Given the description of an element on the screen output the (x, y) to click on. 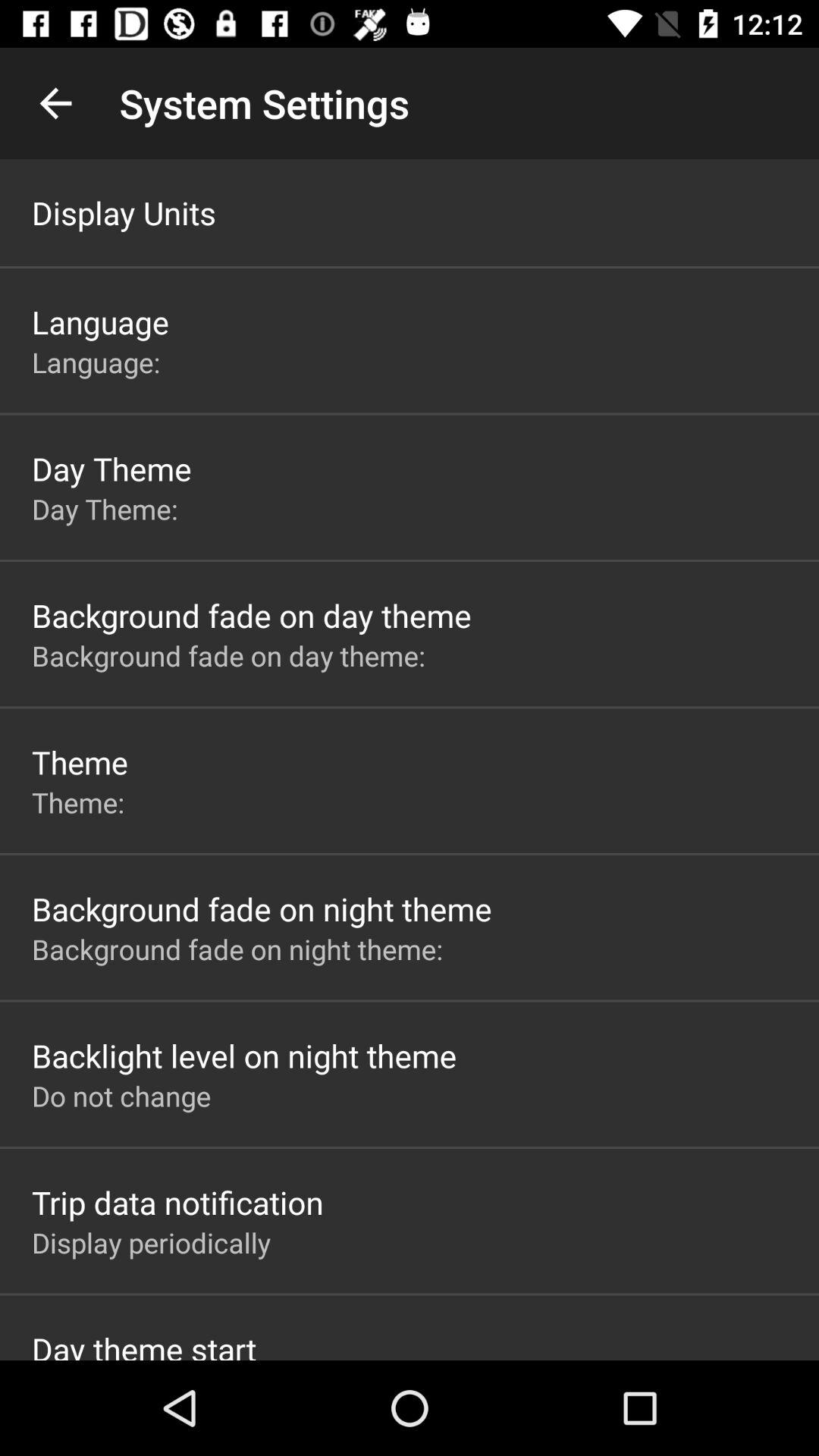
select the item above day theme item (99, 362)
